Given the description of an element on the screen output the (x, y) to click on. 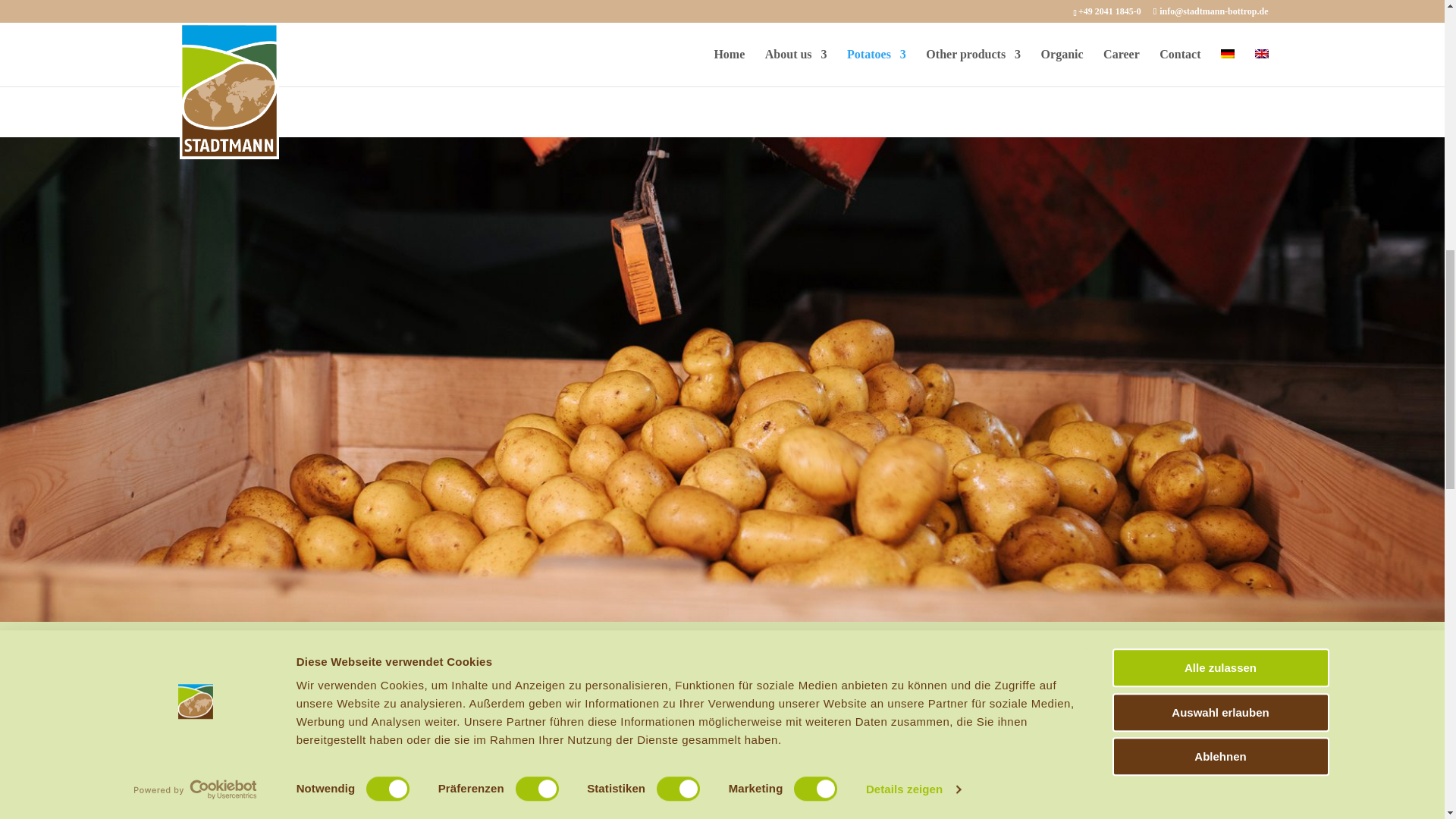
Potatoes in net (1018, 54)
From the Palatinate (337, 761)
From the Rhineland (721, 761)
